Given the description of an element on the screen output the (x, y) to click on. 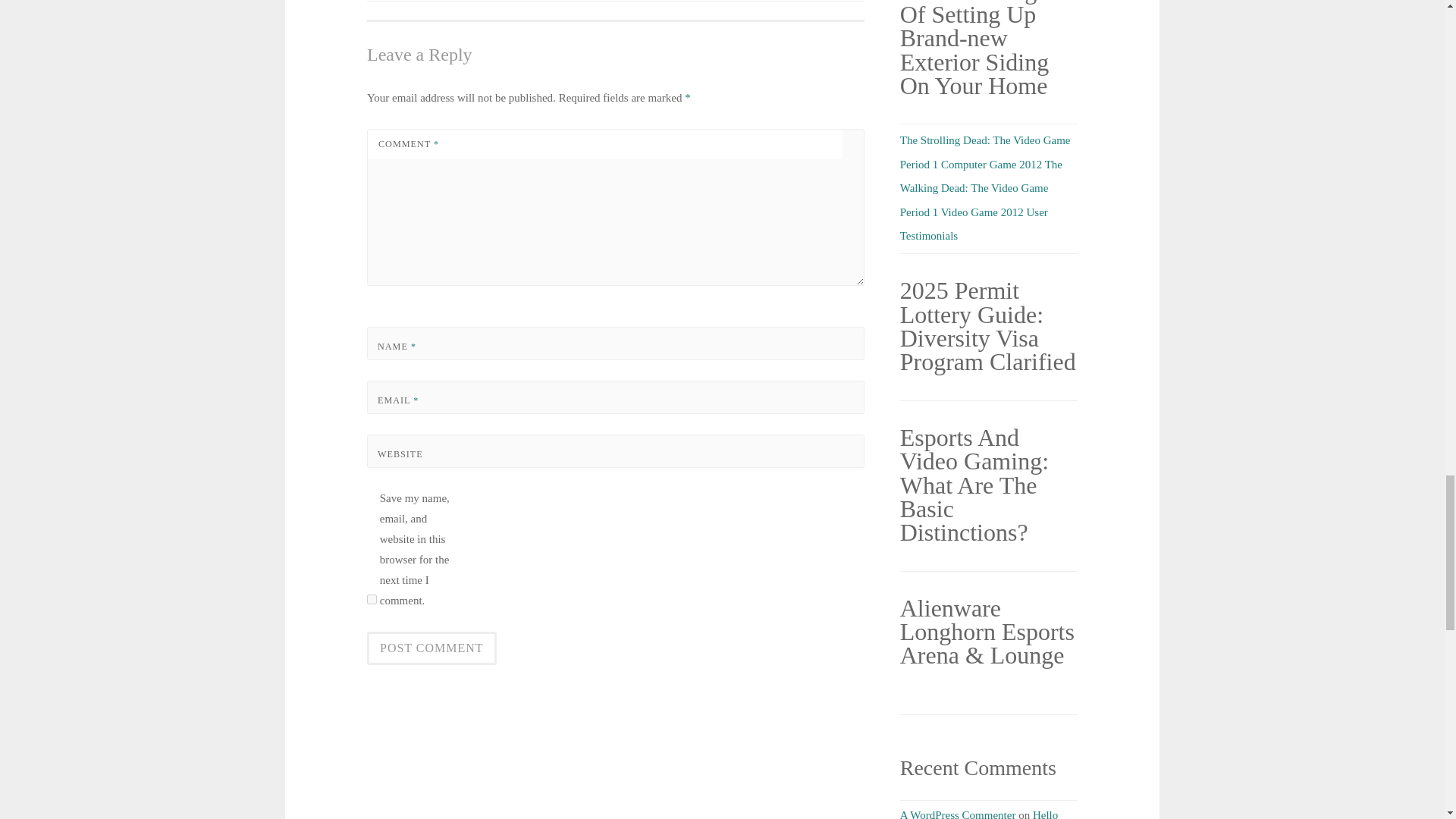
yes (371, 599)
Post Comment (431, 648)
Post Comment (431, 648)
